Given the description of an element on the screen output the (x, y) to click on. 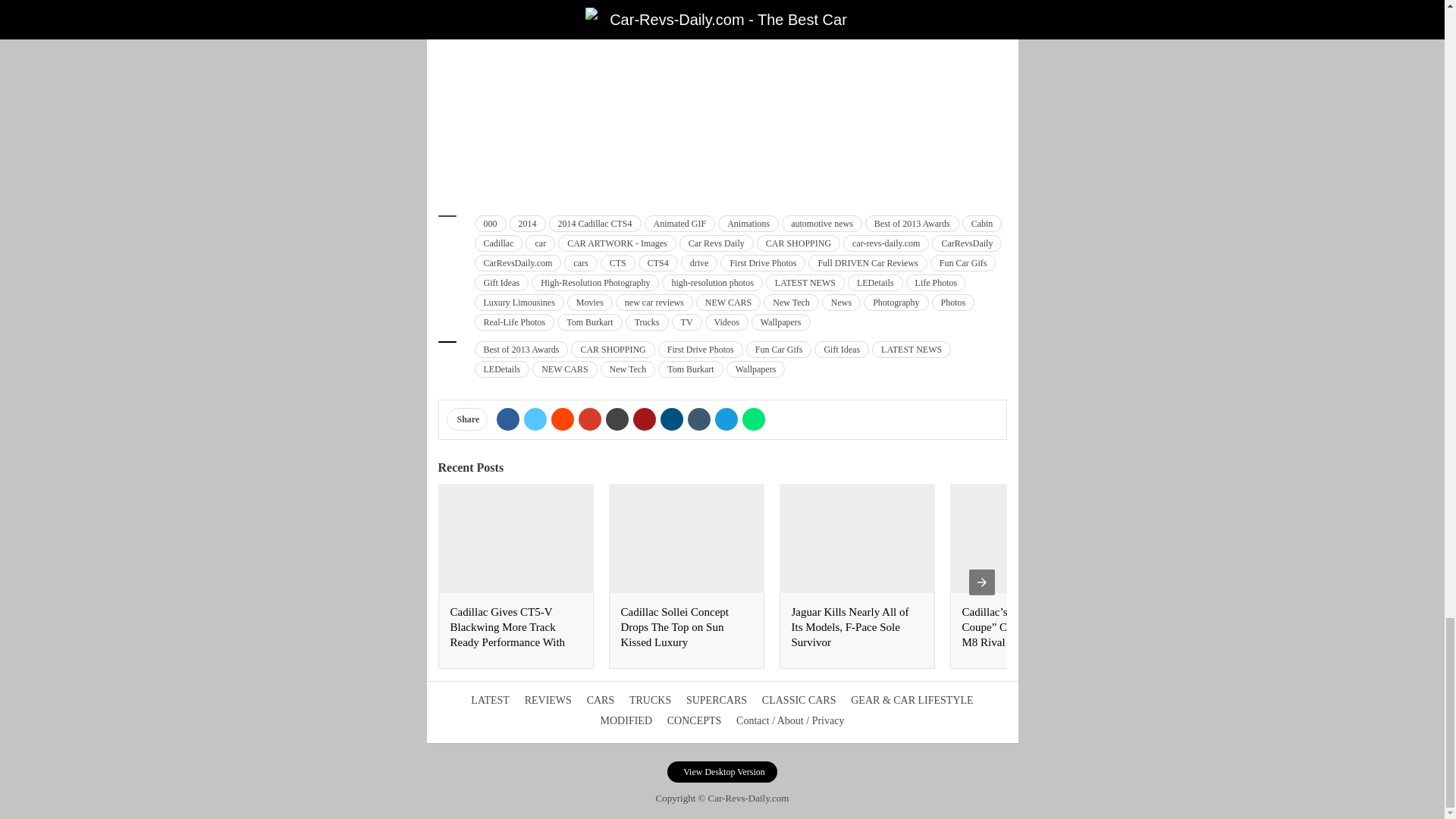
2014 (527, 223)
automotive news (821, 223)
Animated GIF (680, 223)
2014 Cadillac CTS4 (595, 223)
Animations (747, 223)
000 (490, 223)
Next item in carousel (981, 582)
